Given the description of an element on the screen output the (x, y) to click on. 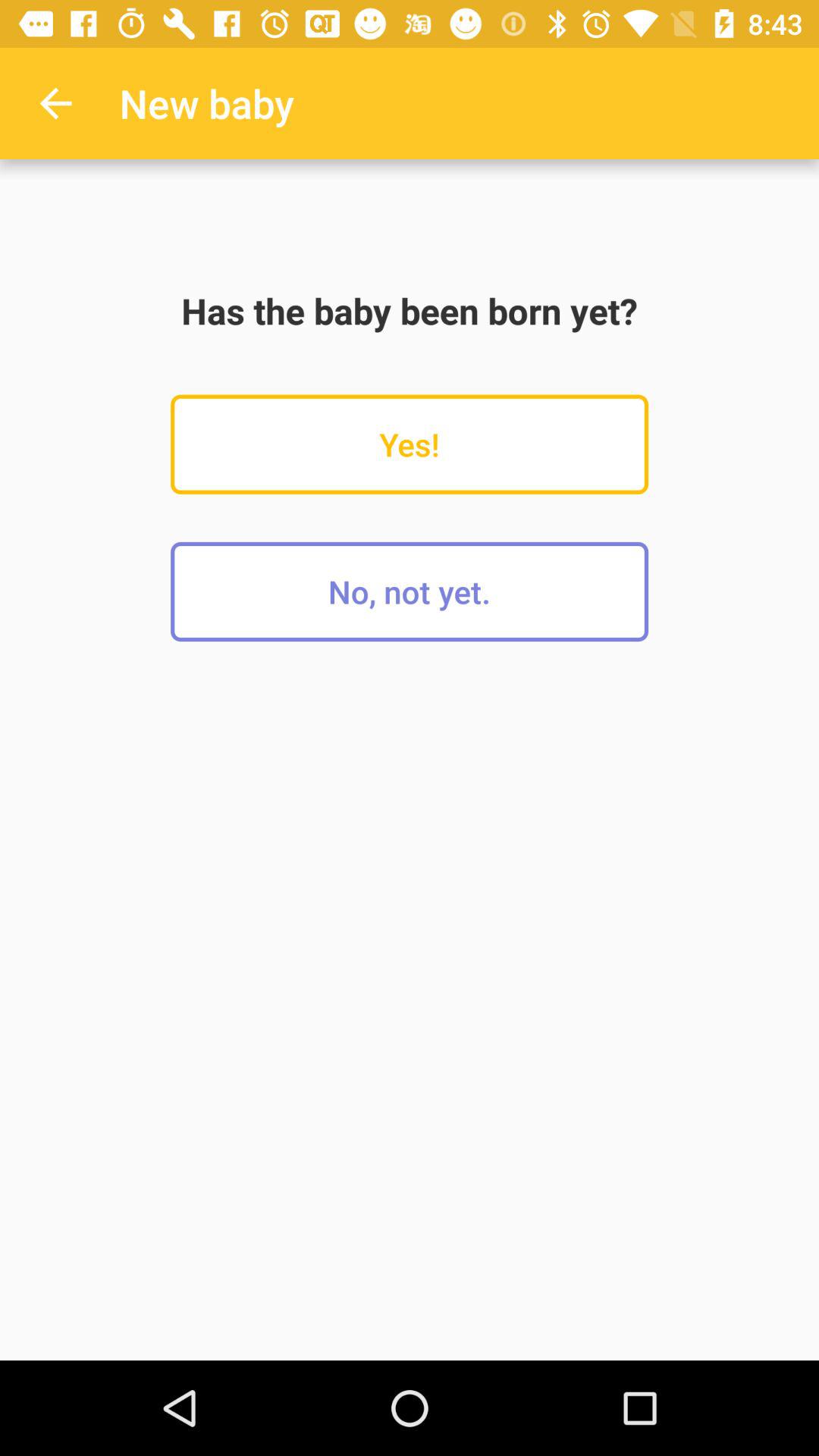
open the item below the yes! (409, 591)
